Given the description of an element on the screen output the (x, y) to click on. 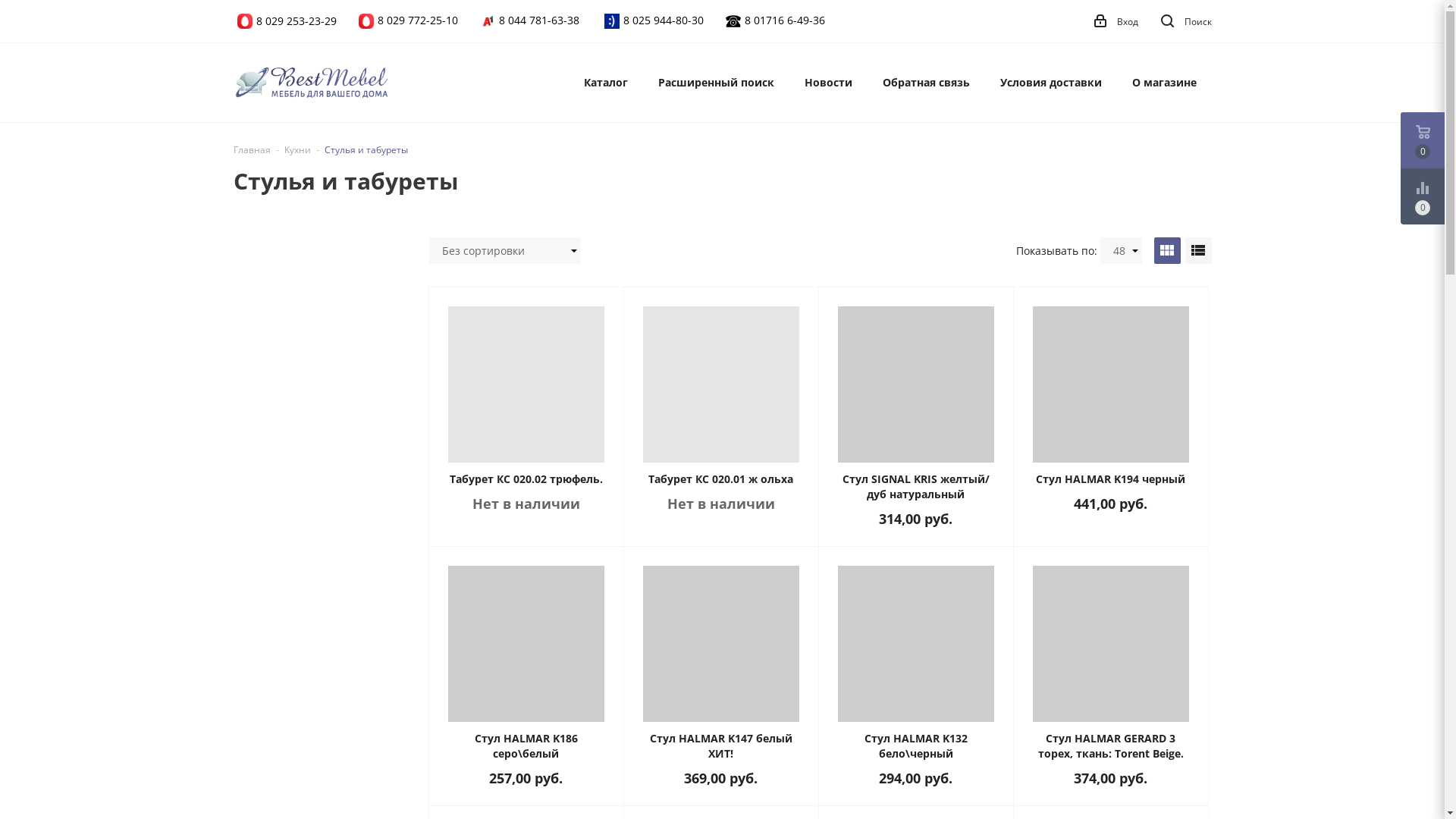
8 01716 6-49-36 Element type: text (784, 19)
48 Element type: text (1120, 250)
view_list Element type: text (1197, 250)
8 029 253-23-29 Element type: text (296, 20)
8 029 772-25-10 Element type: text (417, 19)
view_module Element type: text (1167, 250)
8 025 944-80-30 Element type: text (663, 19)
8 044 781-63-38 Element type: text (538, 19)
